Given the description of an element on the screen output the (x, y) to click on. 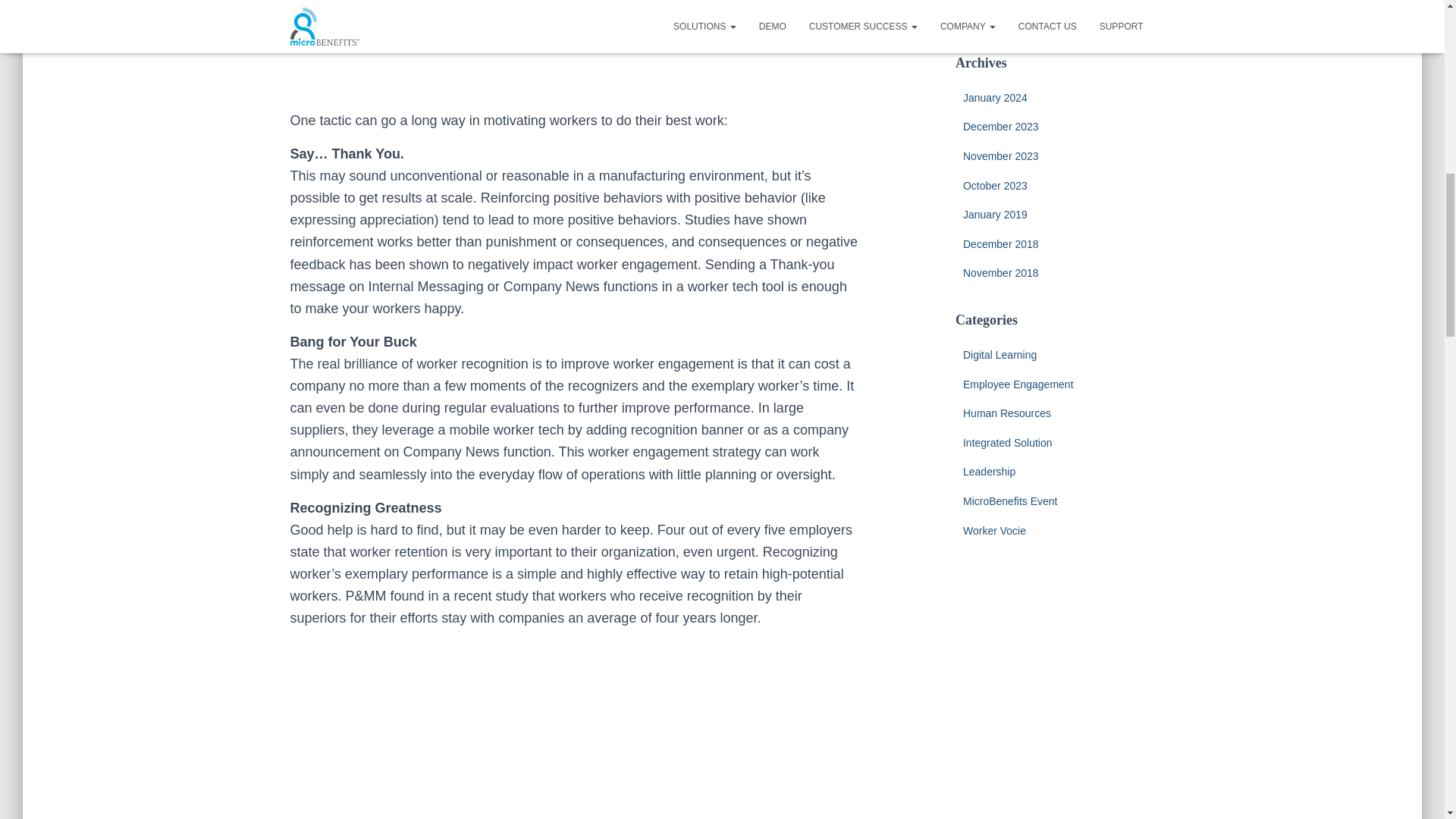
December 2023 (1000, 126)
November 2023 (1000, 155)
January 2024 (994, 97)
